Given the description of an element on the screen output the (x, y) to click on. 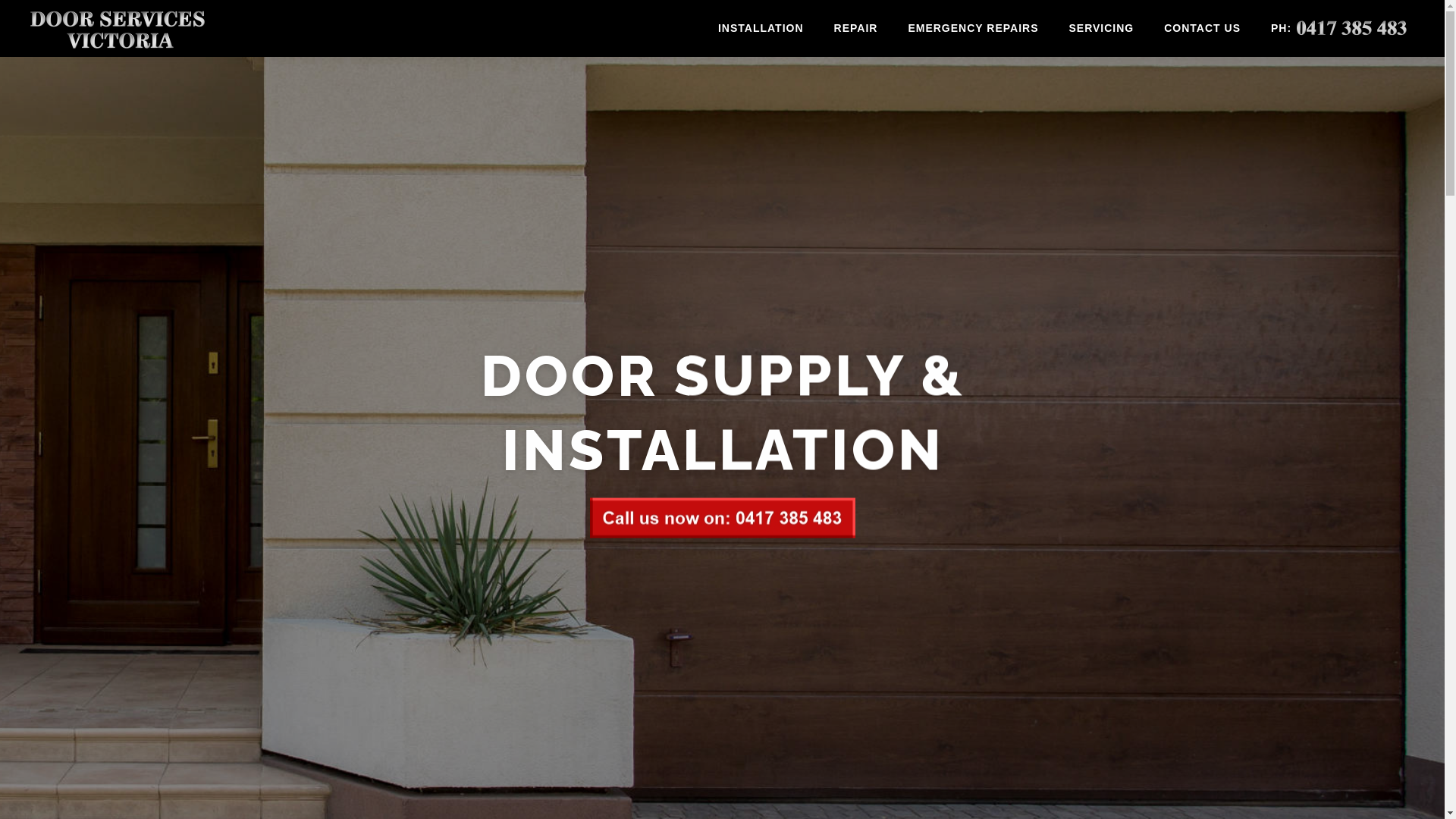
SERVICING Element type: text (1100, 28)
REPAIR Element type: text (856, 28)
CONTACT US Element type: text (1201, 28)
EMERGENCY REPAIRS Element type: text (972, 28)
INSTALLATION Element type: text (760, 28)
PH: Element type: text (1338, 28)
